Given the description of an element on the screen output the (x, y) to click on. 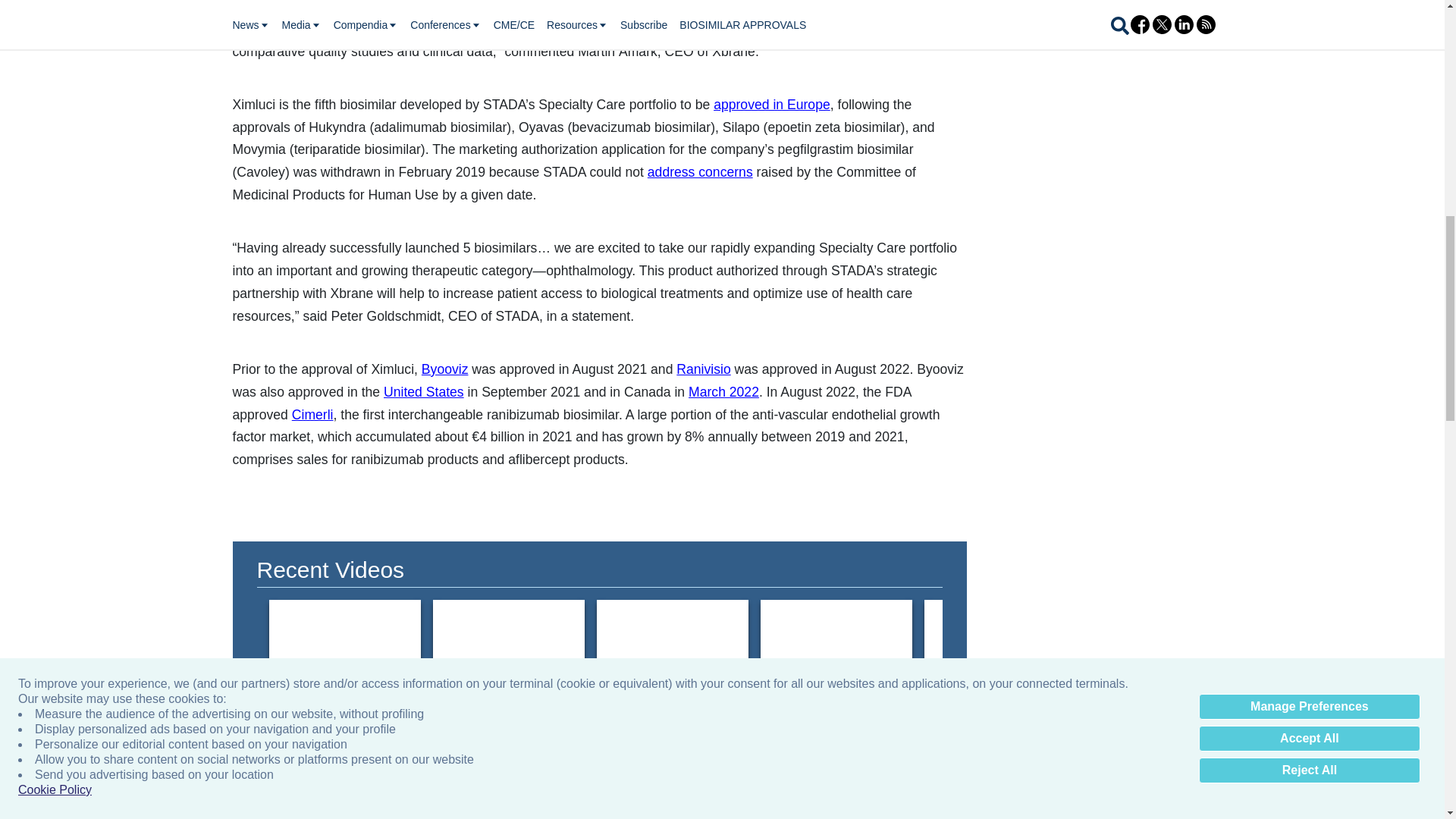
GBW 2023 webinar (835, 642)
Brian Biehn (671, 642)
Fran Gregory, PharmD, MBA (999, 642)
Prerakkumar Parikh, PharmD (343, 642)
Cencora's Corey Ford (507, 642)
Julie Reed, executive director of the Biosimilars Forum (1326, 642)
